Given the description of an element on the screen output the (x, y) to click on. 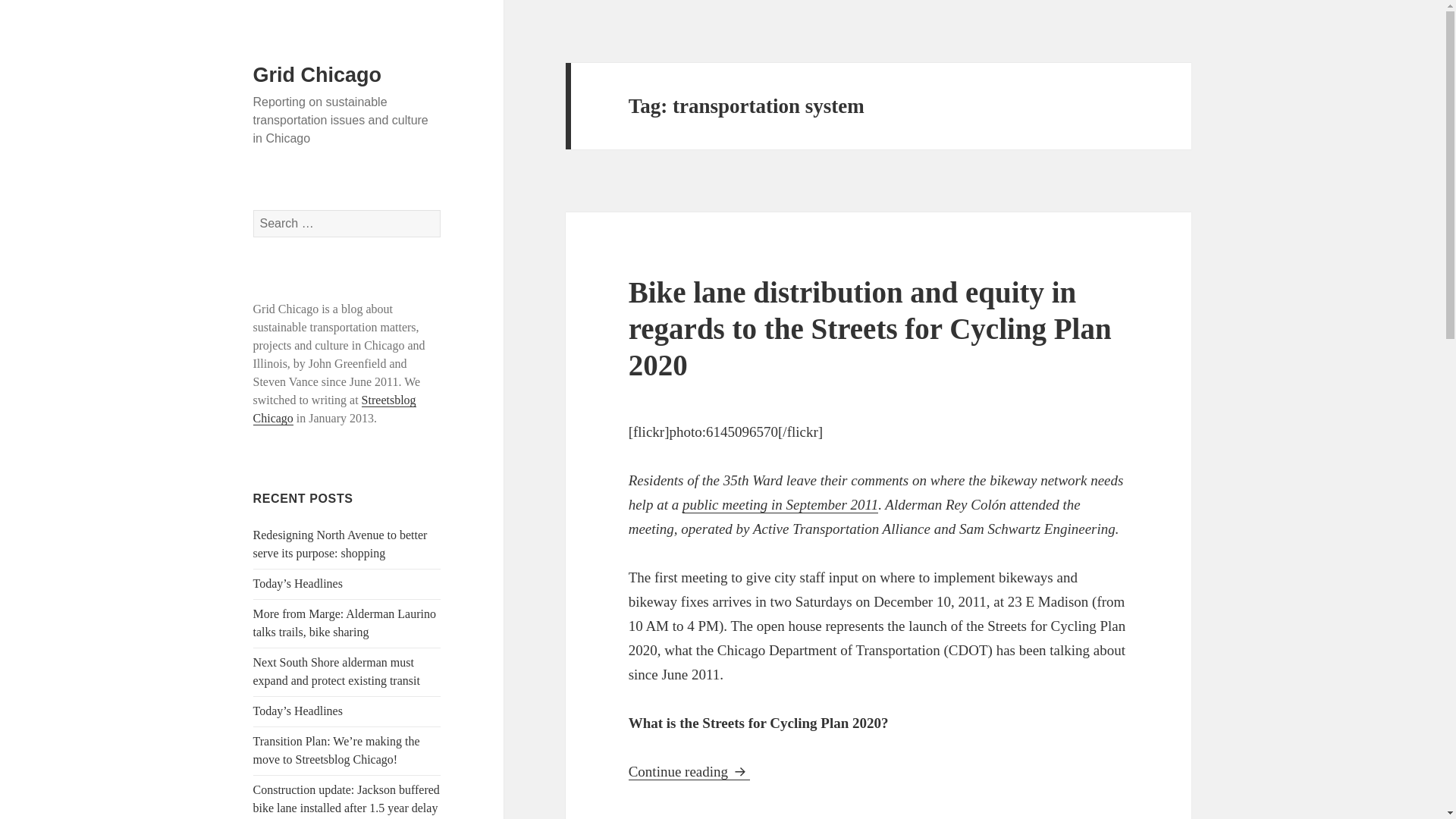
More from Marge: Alderman Laurino talks trails, bike sharing (344, 622)
Grid Chicago (317, 74)
